Given the description of an element on the screen output the (x, y) to click on. 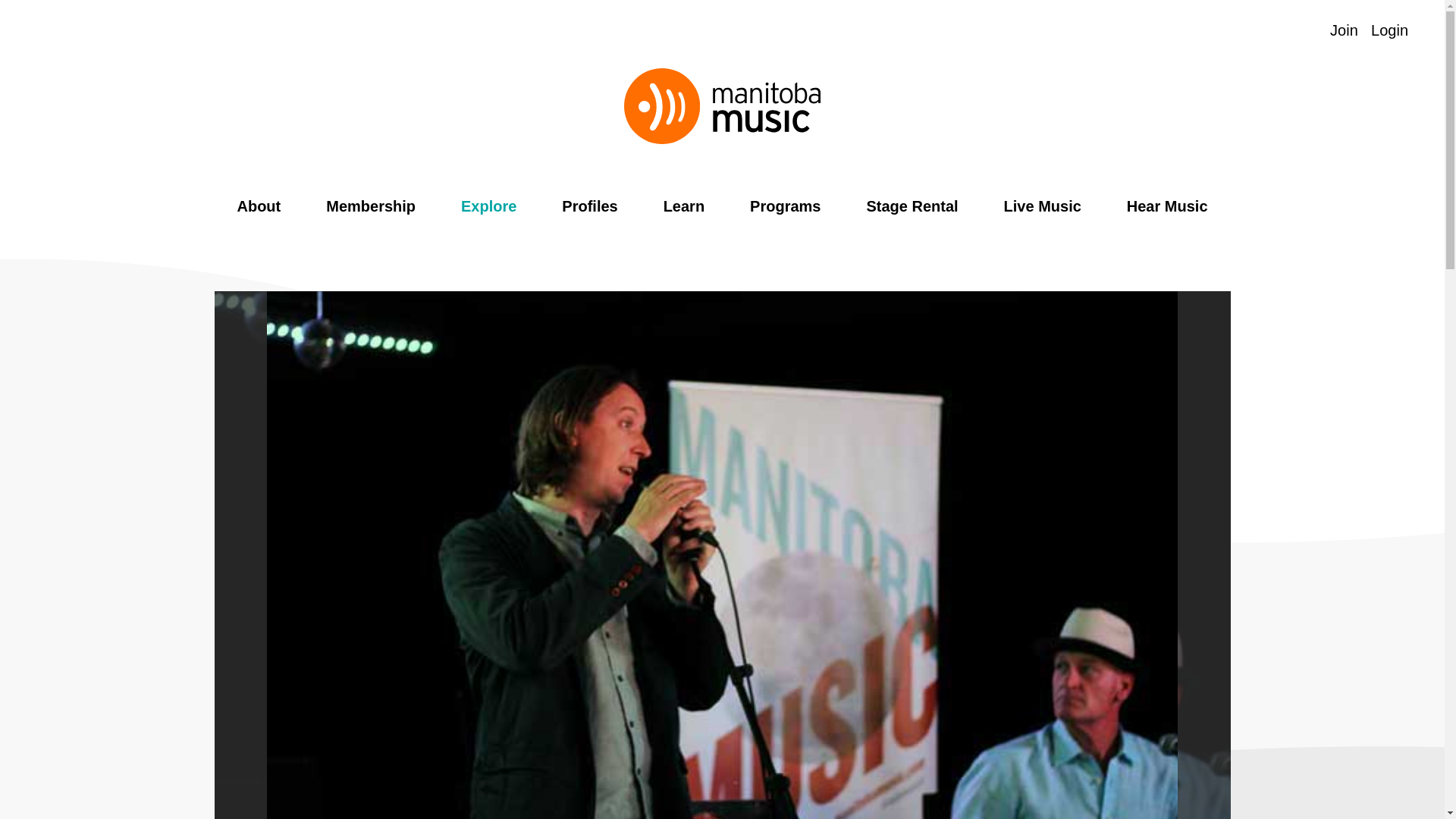
Explore our Playlist on Spotify (1279, 30)
Spotify (44, 31)
Visit Indigenous Music (1308, 30)
Subscribe on YouTube (125, 31)
Join (1343, 30)
Follow our RSS feed (185, 31)
YouTube (125, 31)
Login in as a Manitoba Music Member (1389, 30)
Explore (488, 205)
MANITOBA MUSIC (721, 105)
